Given the description of an element on the screen output the (x, y) to click on. 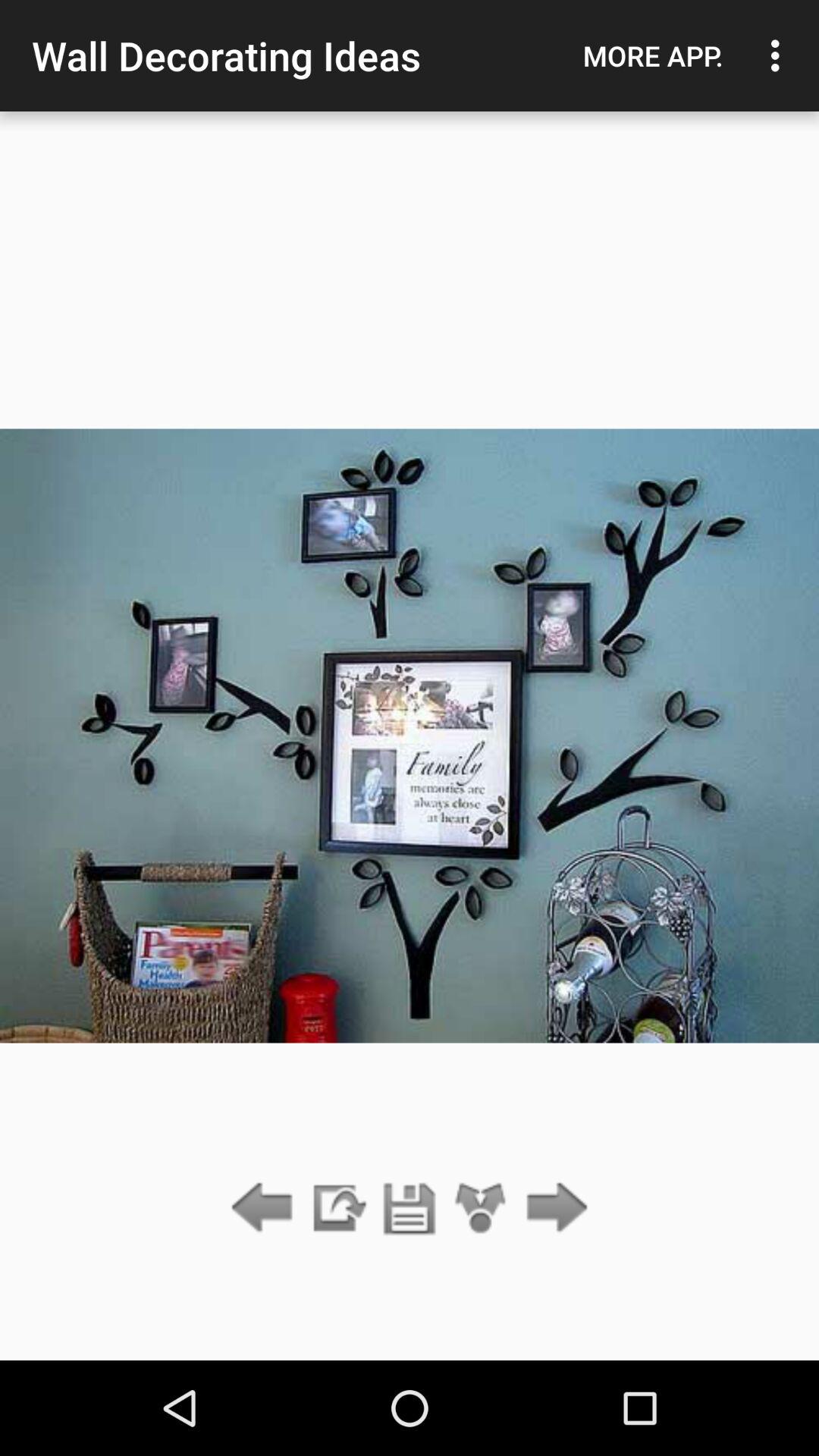
select the icon below the more app. item (552, 1209)
